Given the description of an element on the screen output the (x, y) to click on. 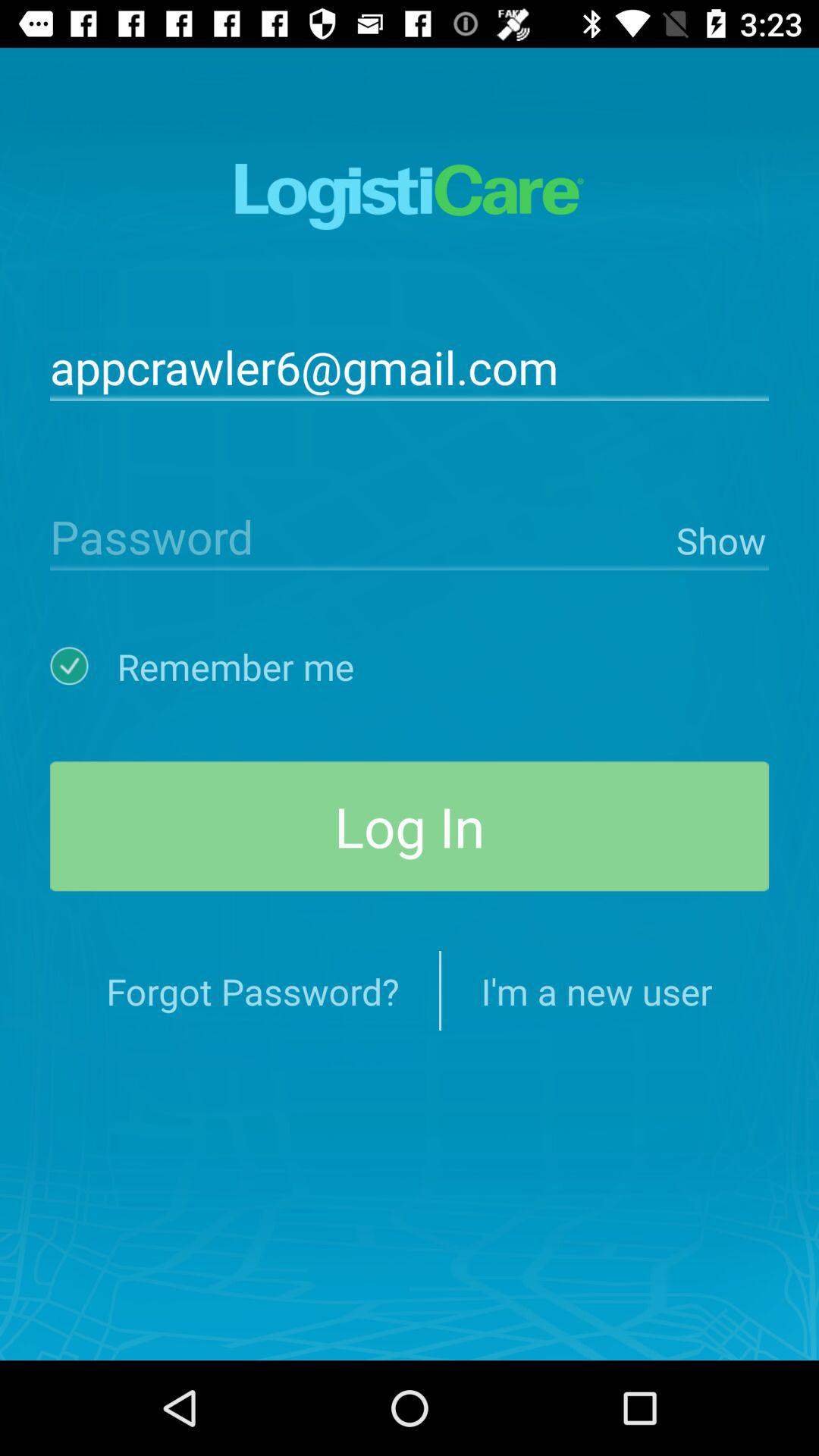
jump until the log in item (409, 826)
